Given the description of an element on the screen output the (x, y) to click on. 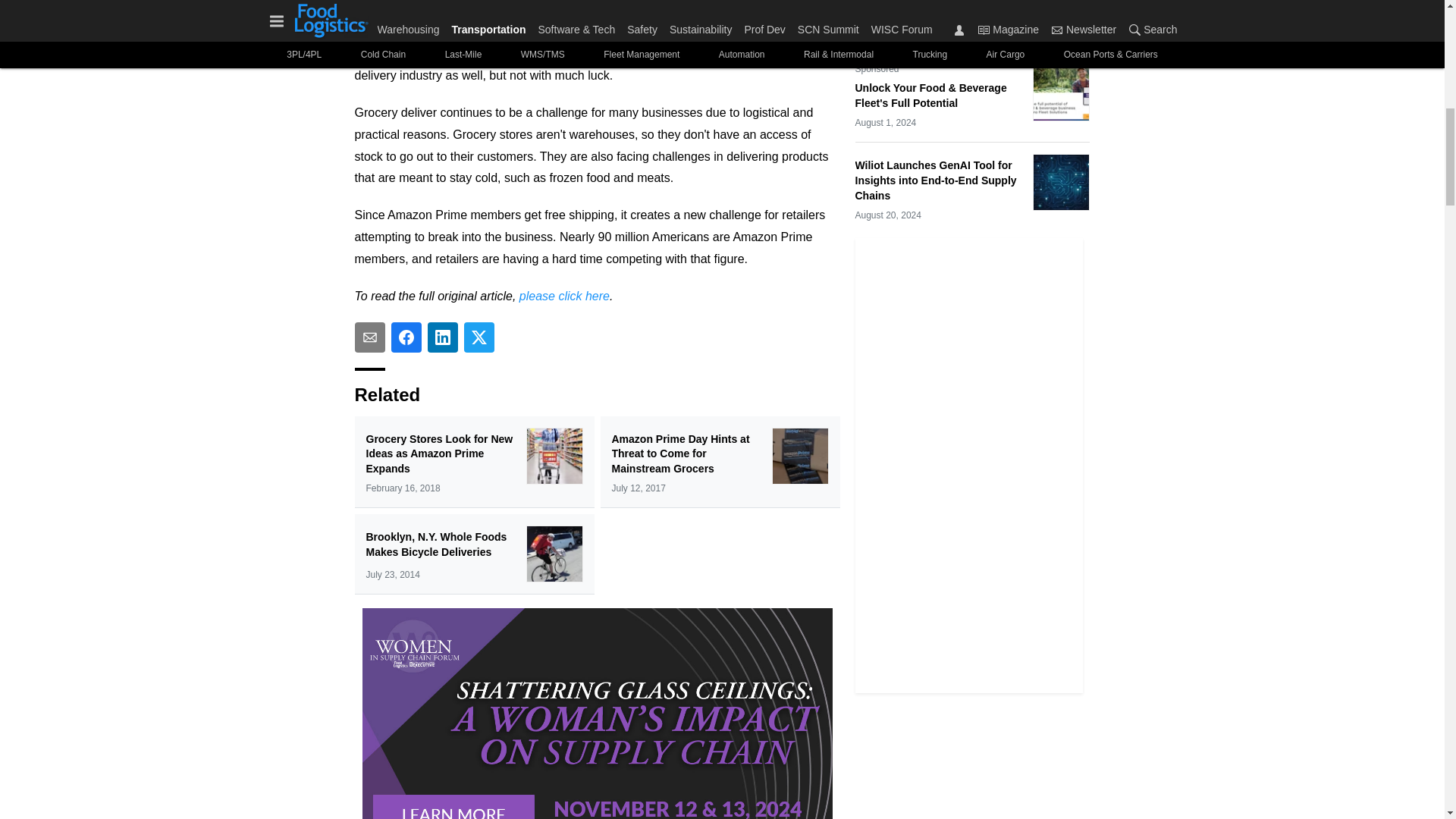
Share To facebook (406, 337)
Share To linkedin (443, 337)
Interaction questions (597, 709)
Share To email (370, 337)
Share To twitter (479, 337)
